Given the description of an element on the screen output the (x, y) to click on. 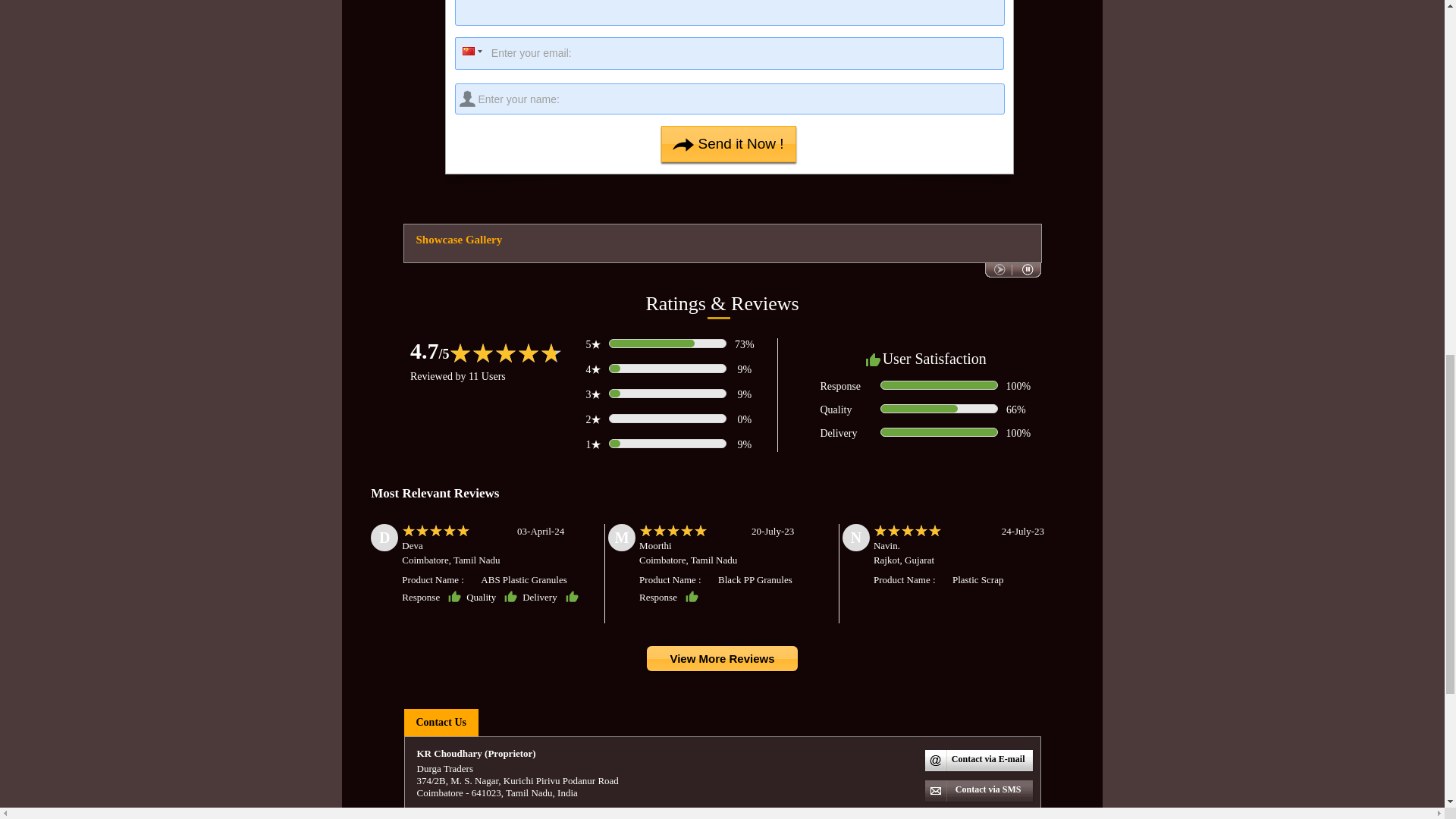
Enter your email: (729, 52)
Send it Now ! (728, 144)
4.7 out of 5 Votes (429, 350)
Contact Us (439, 722)
Send it Now ! (728, 144)
View More Reviews (721, 659)
Enter your name: (729, 98)
